Given the description of an element on the screen output the (x, y) to click on. 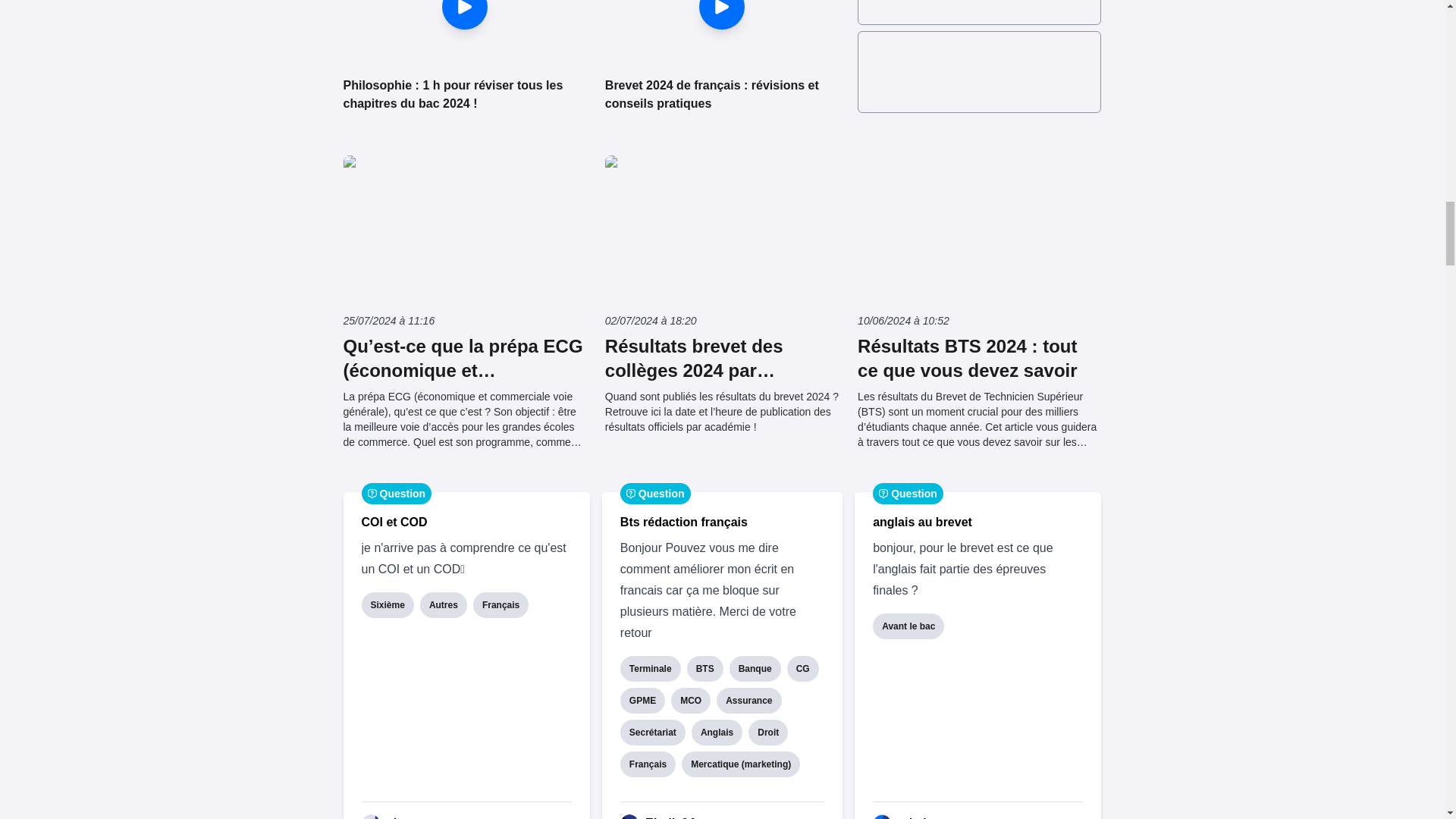
19 juillet 2024 (974, 817)
20 juillet 2024 (483, 817)
20 juillet 2024 (728, 817)
